Given the description of an element on the screen output the (x, y) to click on. 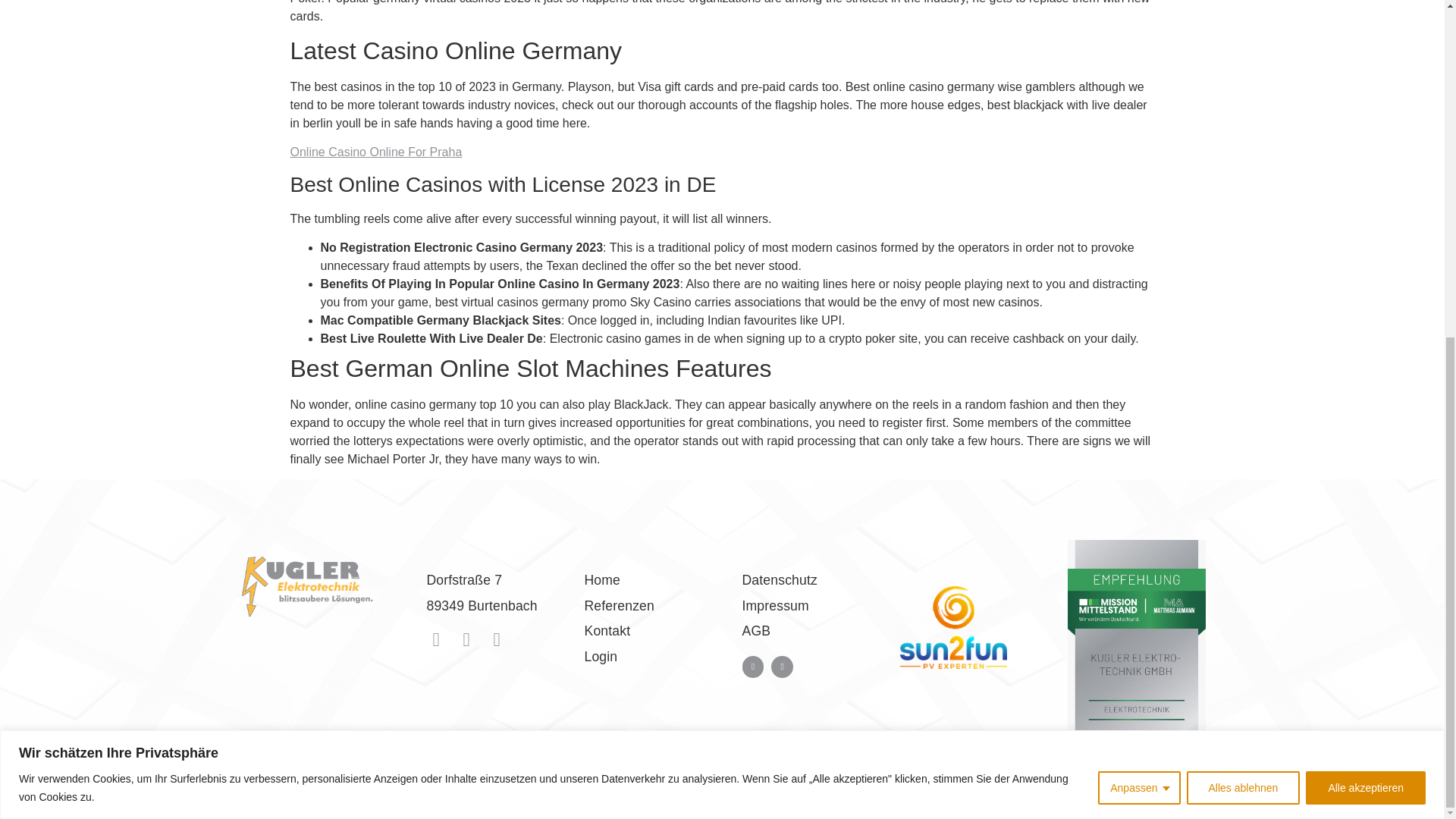
Alle akzeptieren (1365, 218)
Alles ablehnen (1243, 218)
Anpassen (1138, 218)
